Given the description of an element on the screen output the (x, y) to click on. 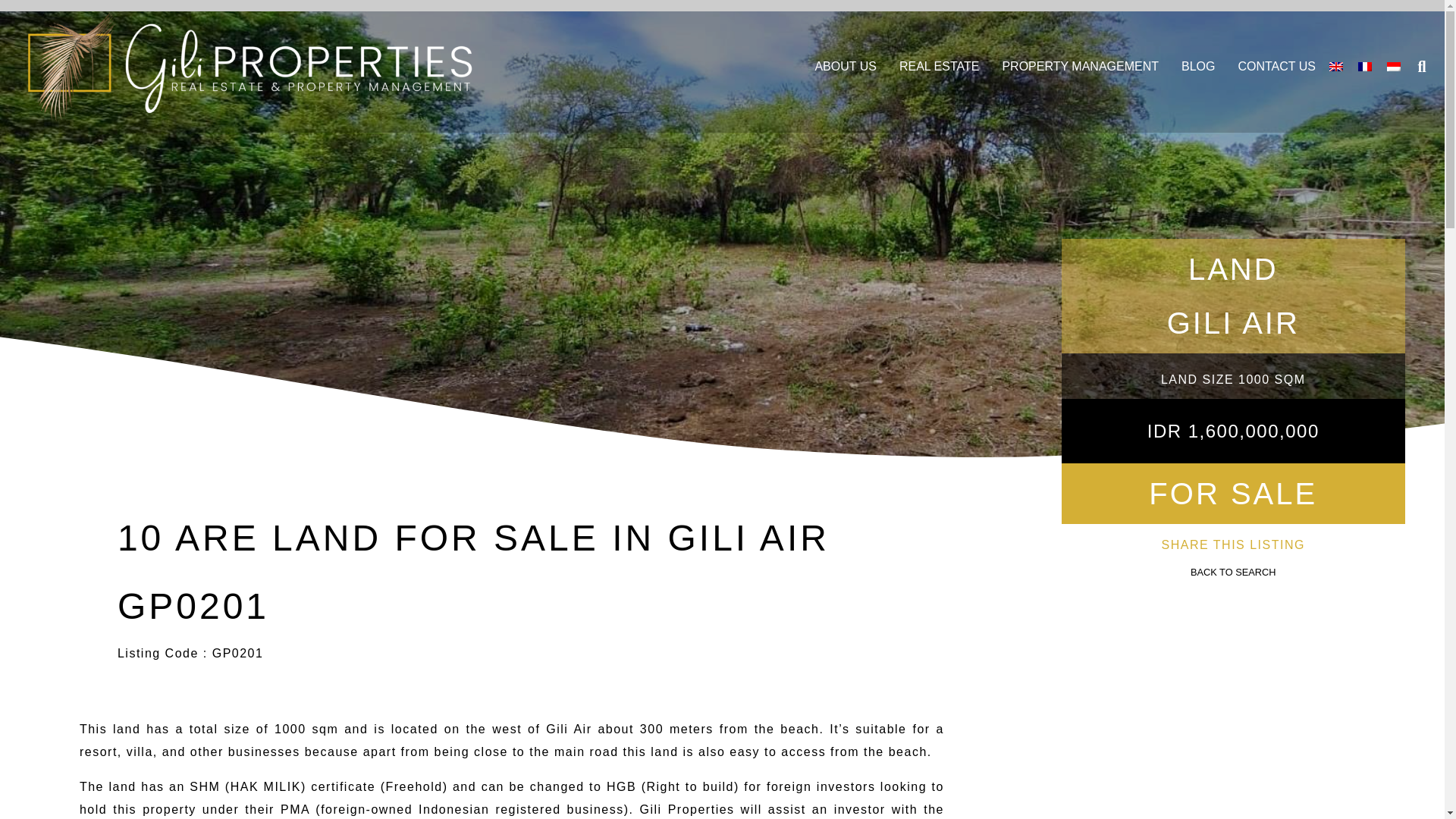
REAL ESTATE (939, 66)
ABOUT US (844, 66)
BLOG (1197, 66)
CONTACT US (1276, 66)
PROPERTY MANAGEMENT (1079, 66)
